Given the description of an element on the screen output the (x, y) to click on. 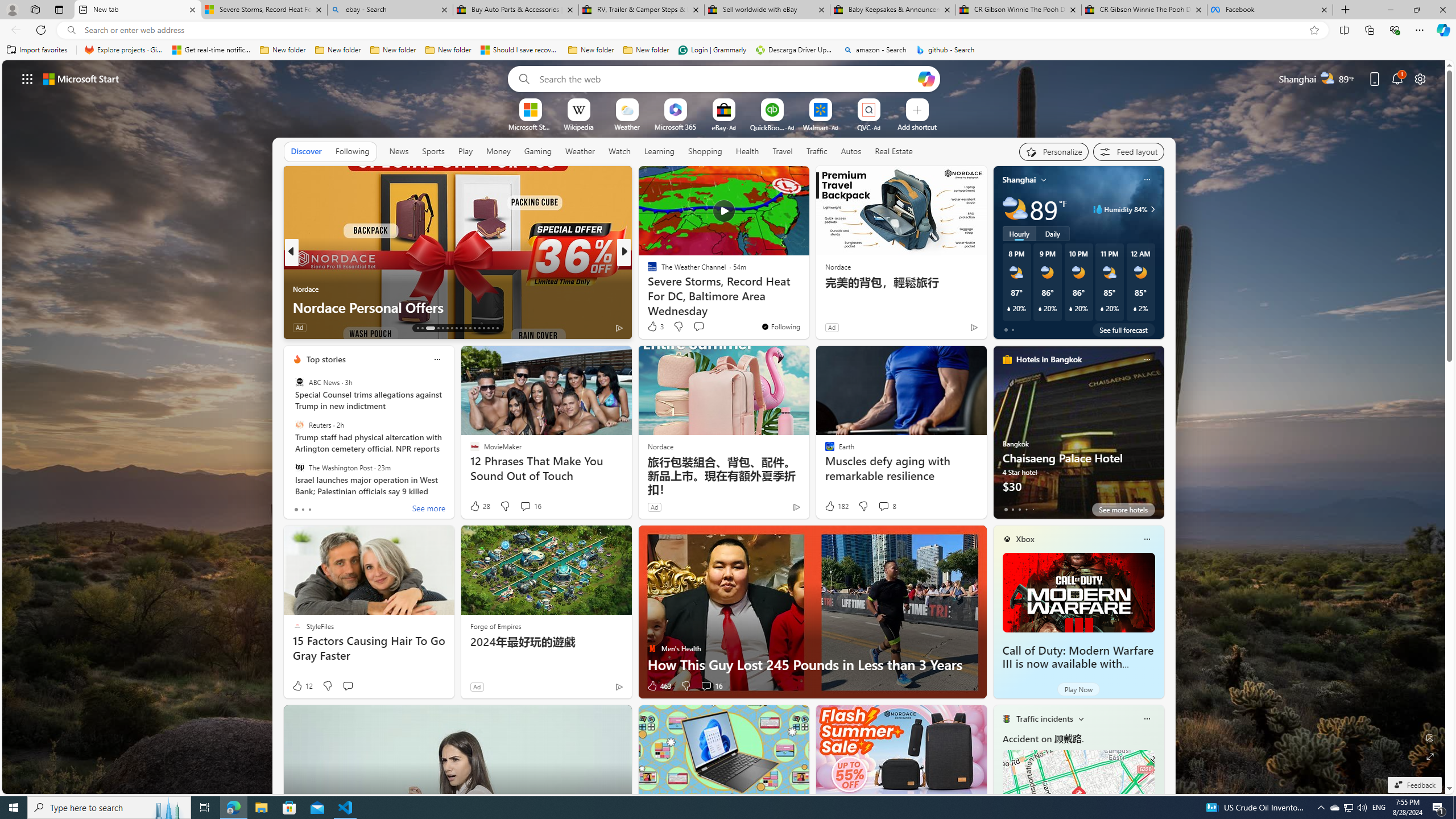
AutomationID: tab-14 (422, 328)
Add a site (916, 126)
View comments 96 Comment (703, 327)
Enter your search term (726, 78)
View comments 1 Comment (703, 327)
AutomationID: tab-16 (438, 328)
